Given the description of an element on the screen output the (x, y) to click on. 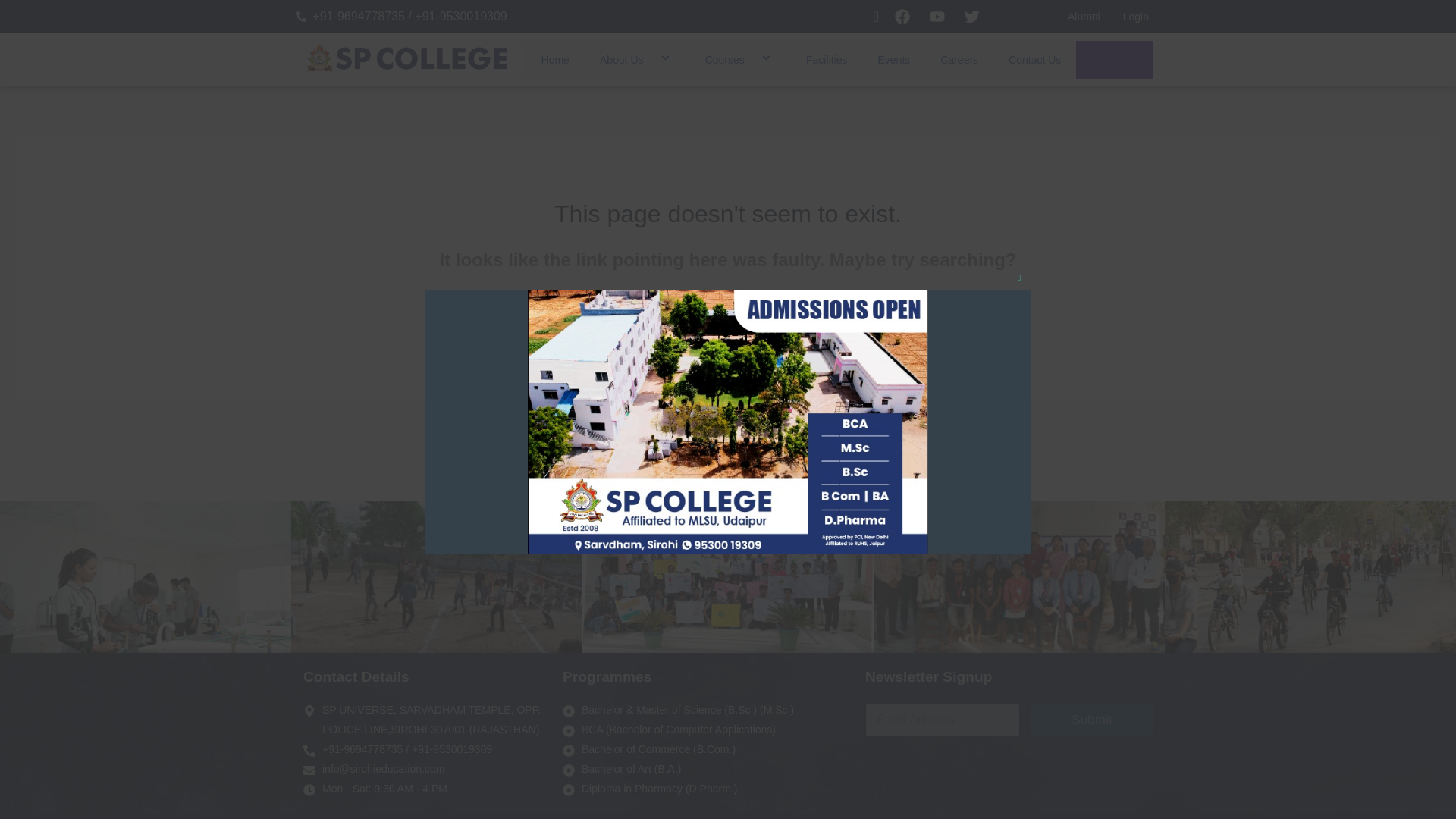
Home (555, 59)
Close this module (1018, 277)
Alumni (1084, 16)
Events (892, 59)
Facilities (825, 59)
Courses (740, 59)
Login (1136, 16)
About Us (637, 59)
Submit (1091, 719)
Careers (958, 59)
Contact Us (1033, 59)
